Given the description of an element on the screen output the (x, y) to click on. 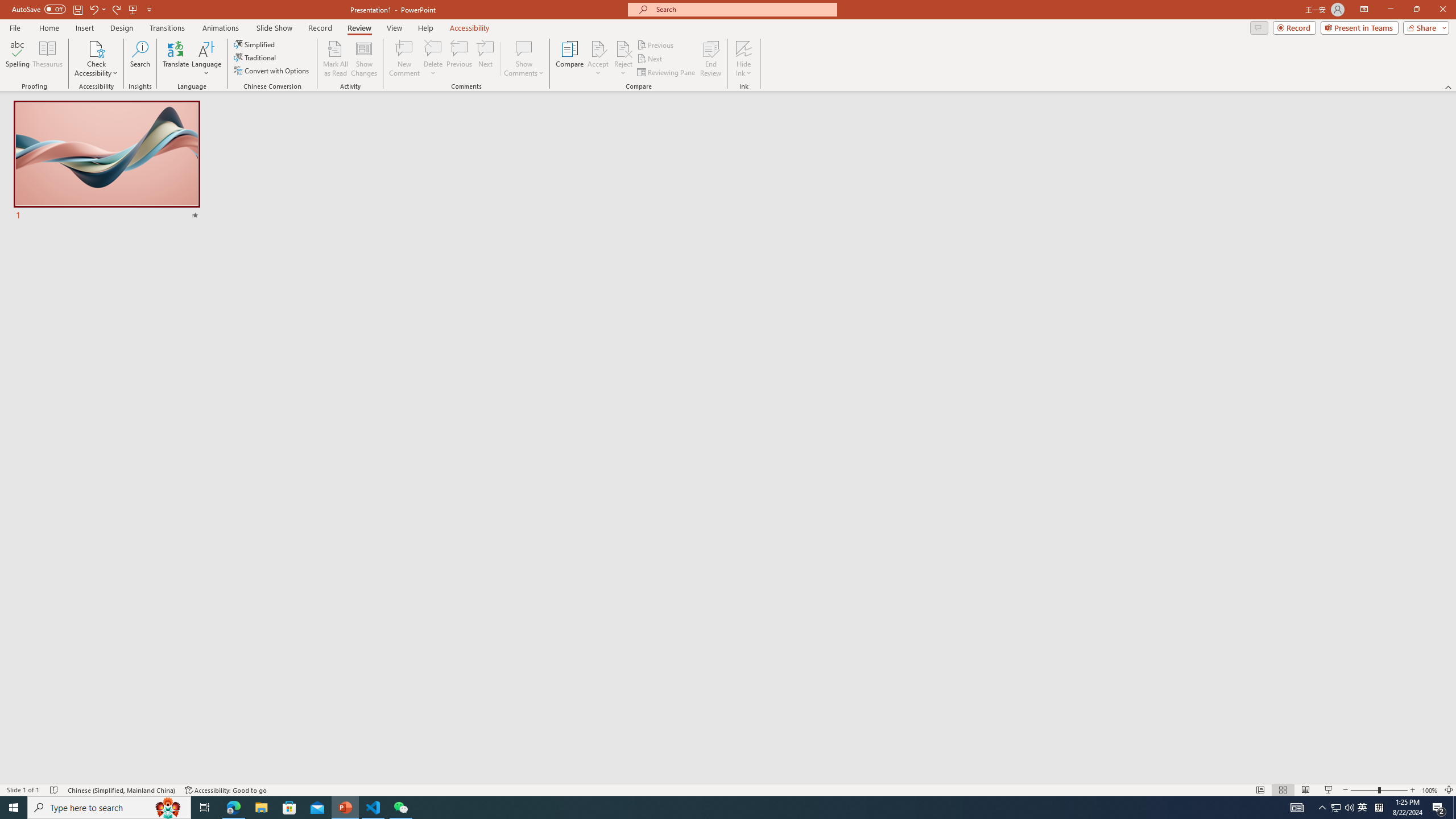
Simplified (254, 44)
Show Comments (524, 48)
Delete (432, 48)
Spelling... (17, 58)
Language (206, 58)
Mark All as Read (335, 58)
